Given the description of an element on the screen output the (x, y) to click on. 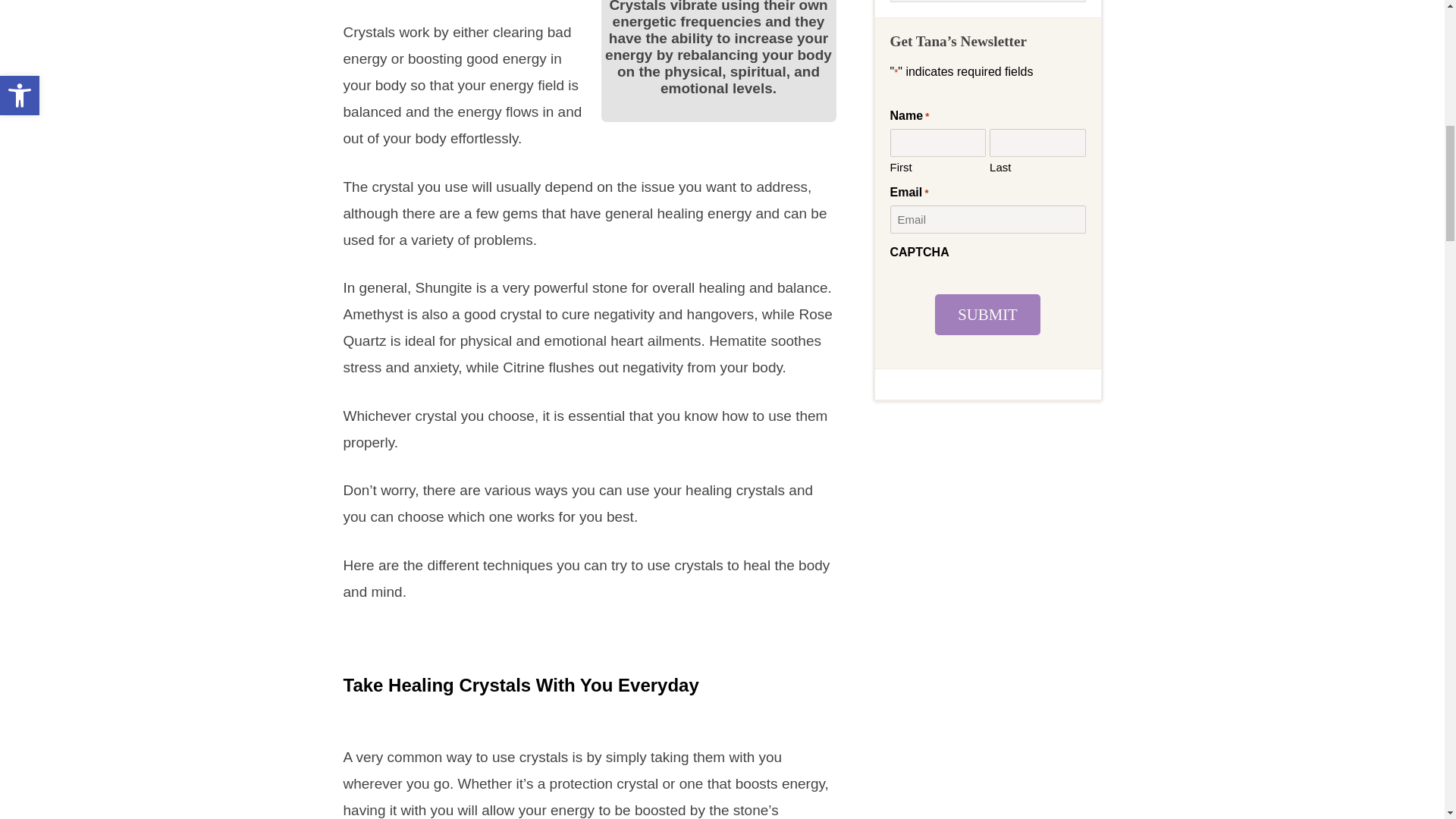
Submit (987, 314)
Submit (987, 314)
